Given the description of an element on the screen output the (x, y) to click on. 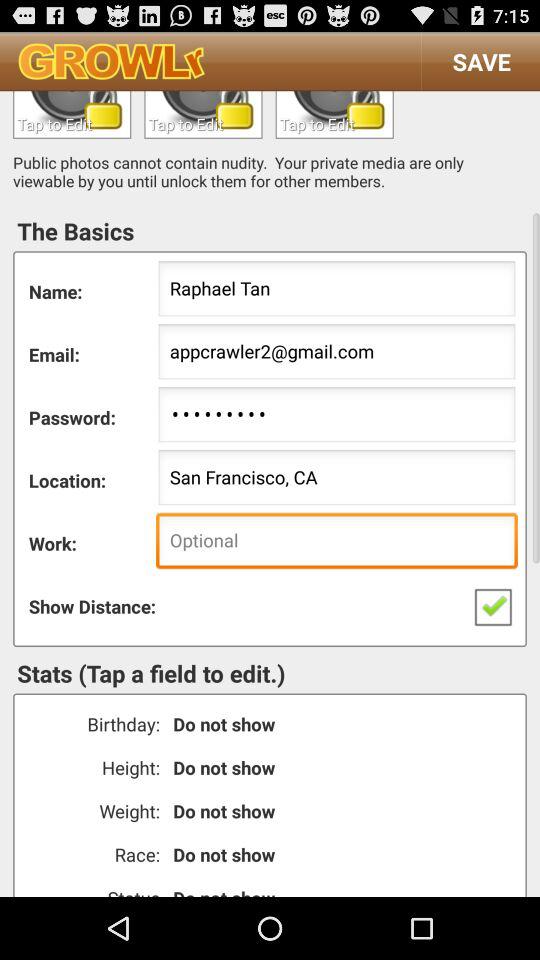
because back devicer (72, 114)
